Given the description of an element on the screen output the (x, y) to click on. 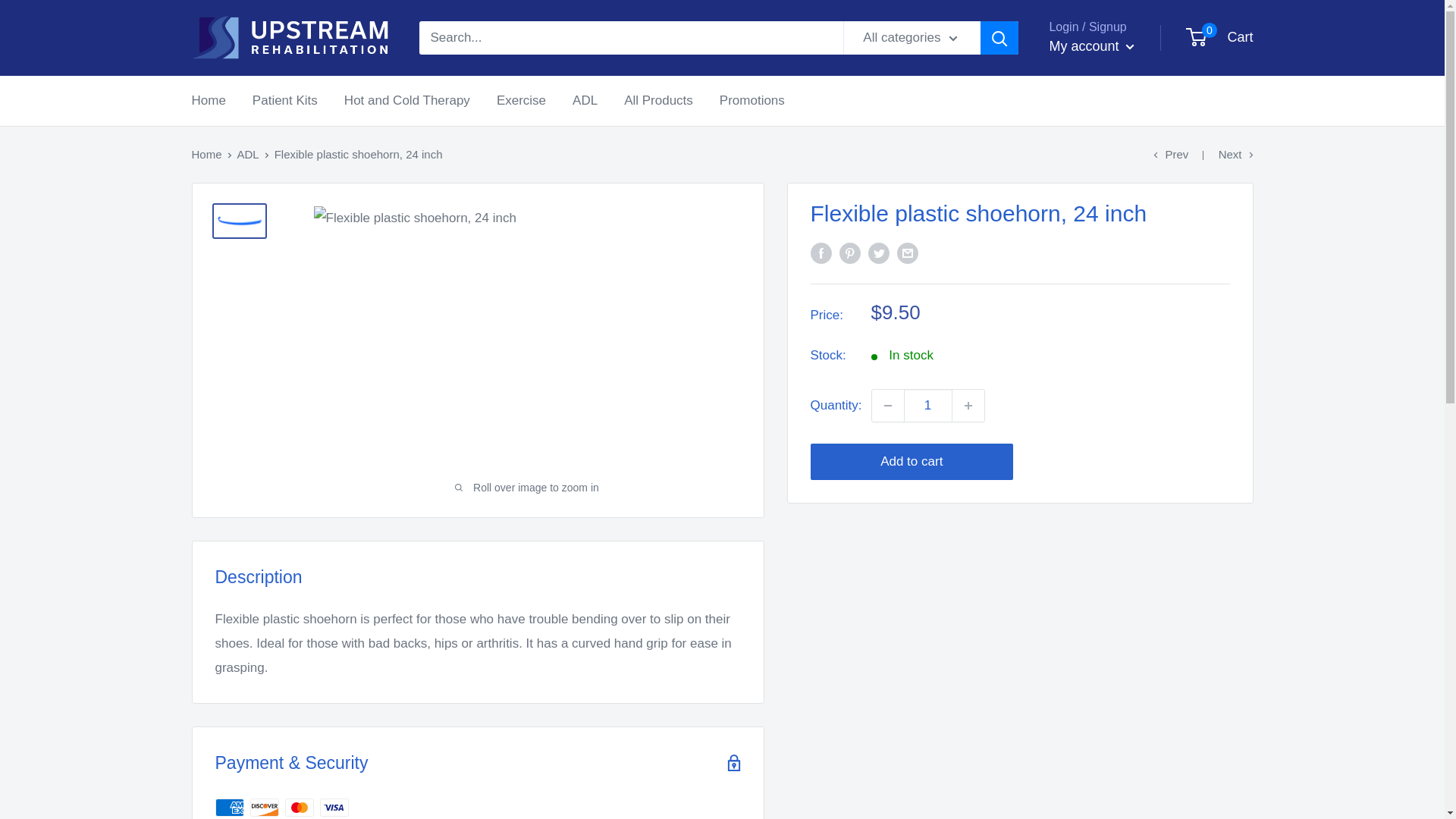
Home (205, 154)
Hot and Cold Therapy (406, 100)
My account (1091, 46)
All Products (658, 100)
Home (207, 100)
Exercise (521, 100)
Decrease quantity by 1 (888, 405)
Patient Kits (284, 100)
Promotions (751, 100)
ADL (584, 100)
1 (928, 405)
ADL (248, 154)
Prev (1220, 37)
Next (1170, 154)
